Given the description of an element on the screen output the (x, y) to click on. 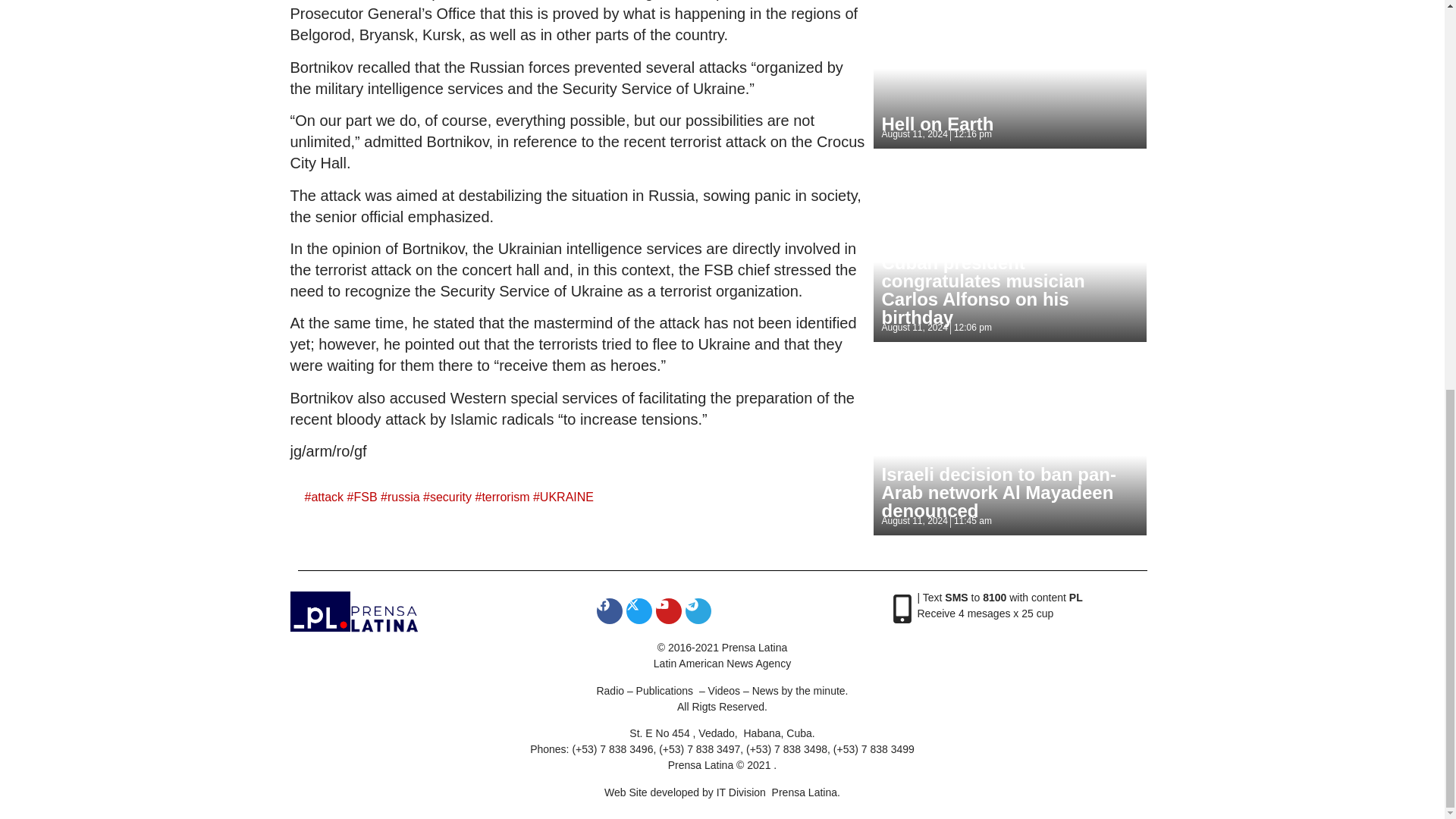
security (450, 496)
Hell on Earth (936, 123)
russia (403, 496)
terrorism (505, 496)
UKRAINE (567, 496)
FSB (365, 496)
attack (327, 496)
